Given the description of an element on the screen output the (x, y) to click on. 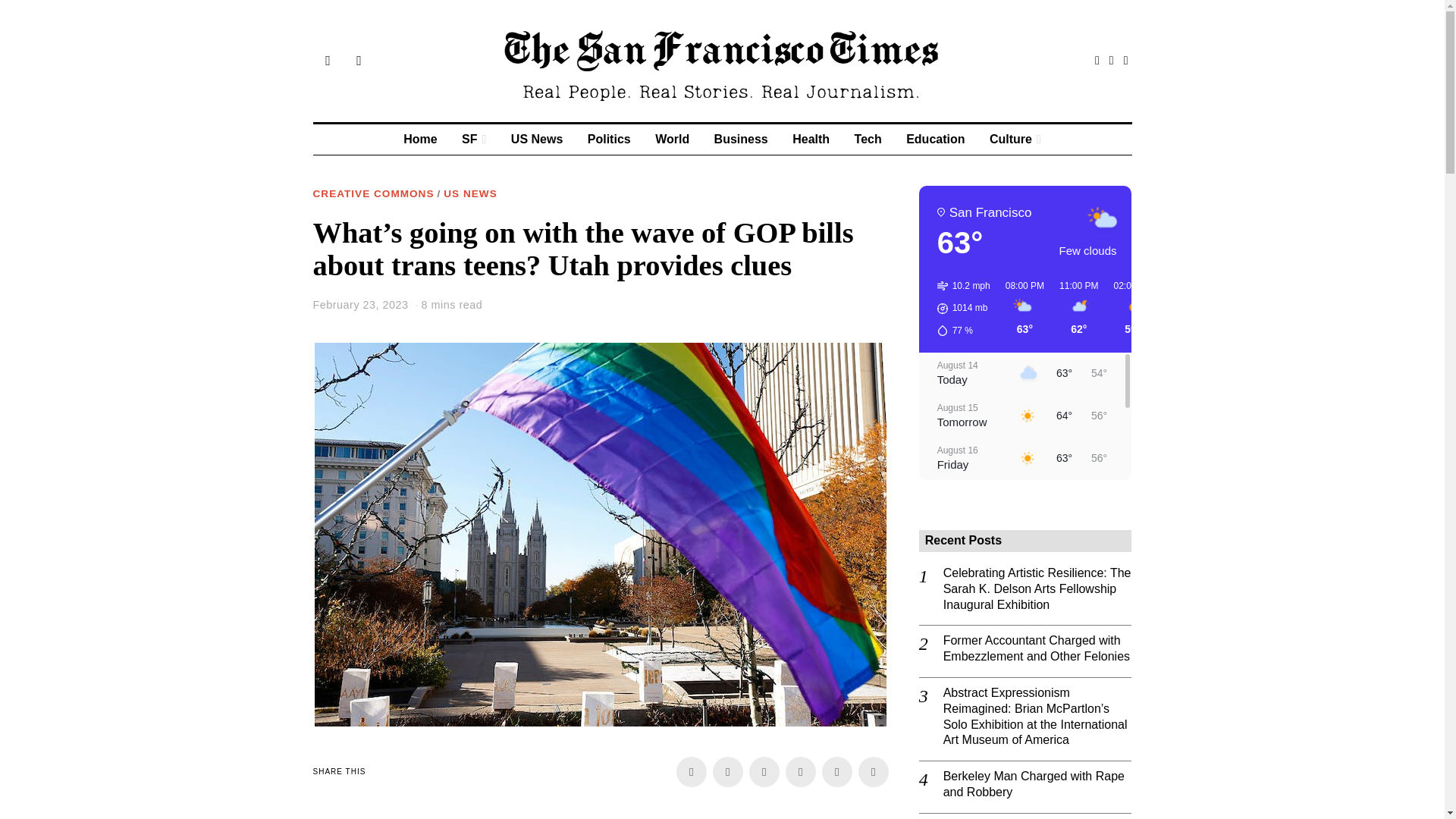
SF (473, 139)
Home (419, 139)
US NEWS (470, 194)
CREATIVE COMMONS (373, 194)
Politics (609, 139)
Business (740, 139)
Health (810, 139)
Culture (1014, 139)
Tech (868, 139)
Humidity (963, 330)
